Given the description of an element on the screen output the (x, y) to click on. 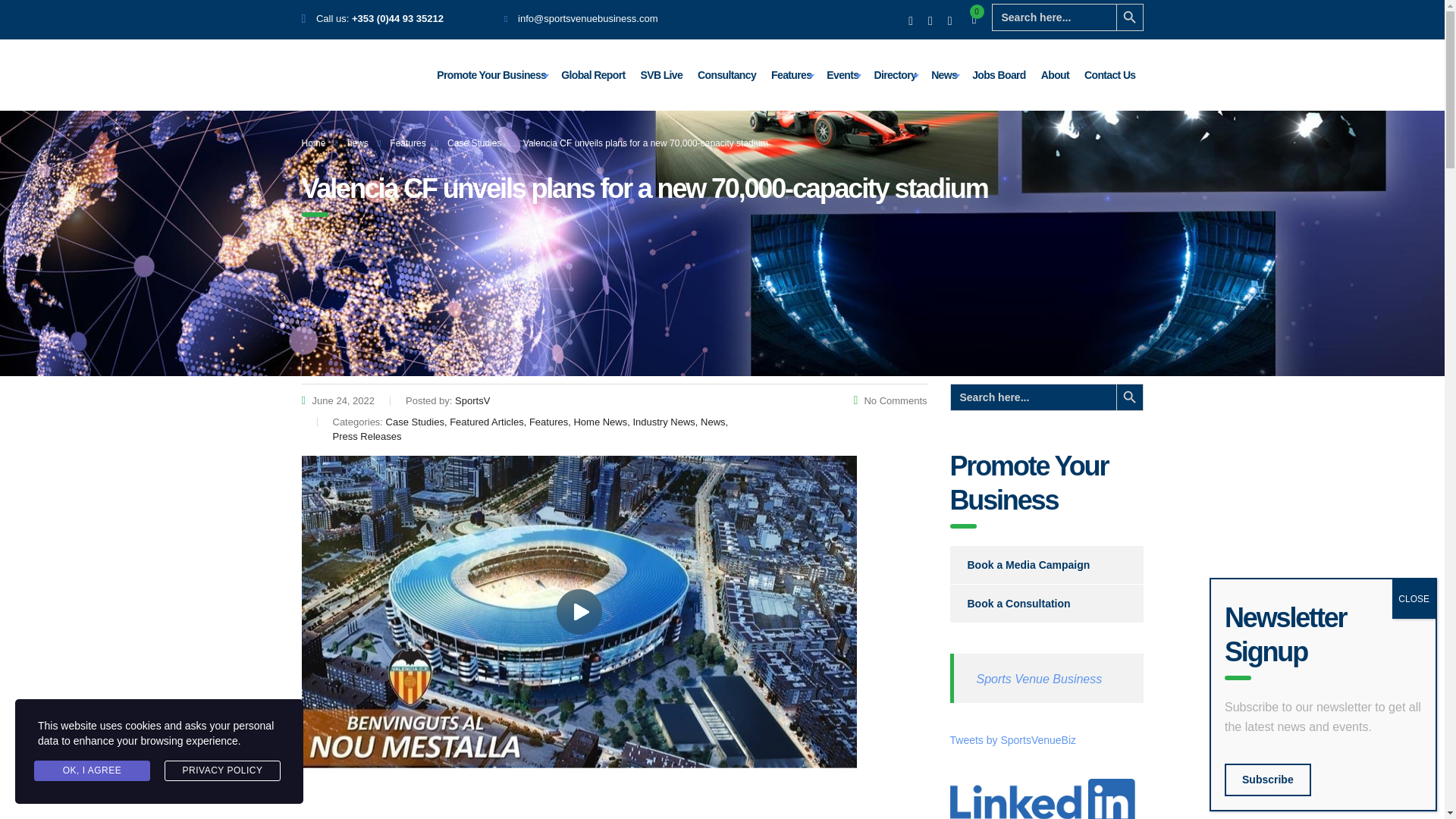
Go to the Features category archives. (407, 143)
Directory (894, 74)
Go to the Case Studies category archives. (473, 143)
Events (842, 74)
SVB Live (661, 74)
Features (790, 74)
Search Button (1129, 17)
Global Report (592, 74)
Go to news. (357, 143)
Consultancy (726, 74)
Promote Your Business (491, 74)
